Given the description of an element on the screen output the (x, y) to click on. 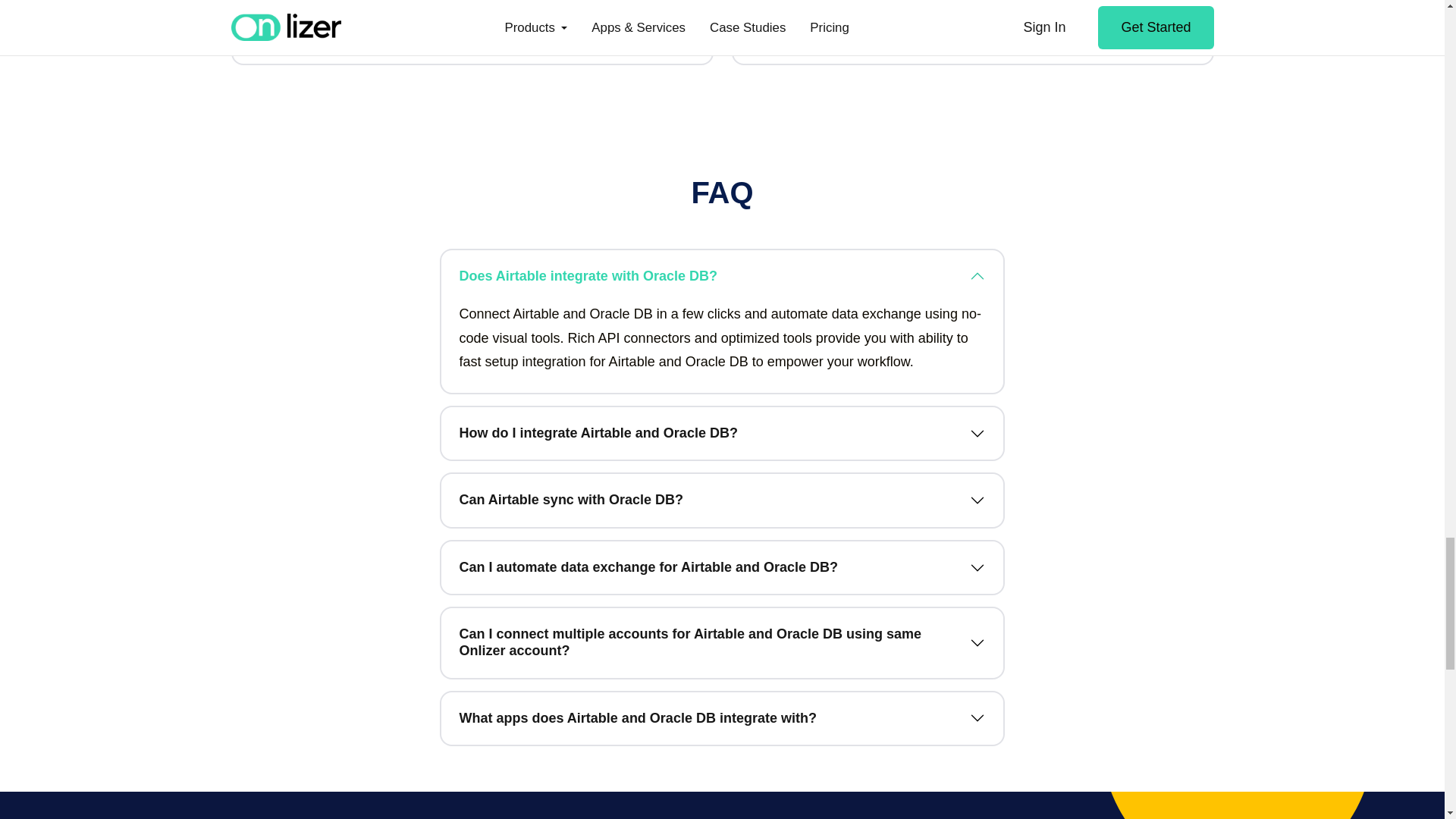
Does Airtable integrate with Oracle DB? (722, 276)
Can Airtable sync with Oracle DB? (722, 500)
How do I integrate Airtable and Oracle DB? (722, 433)
Can I automate data exchange for Airtable and Oracle DB? (722, 567)
Try action (972, 34)
What apps does Airtable and Oracle DB integrate with? (722, 718)
Try action (471, 34)
